Given the description of an element on the screen output the (x, y) to click on. 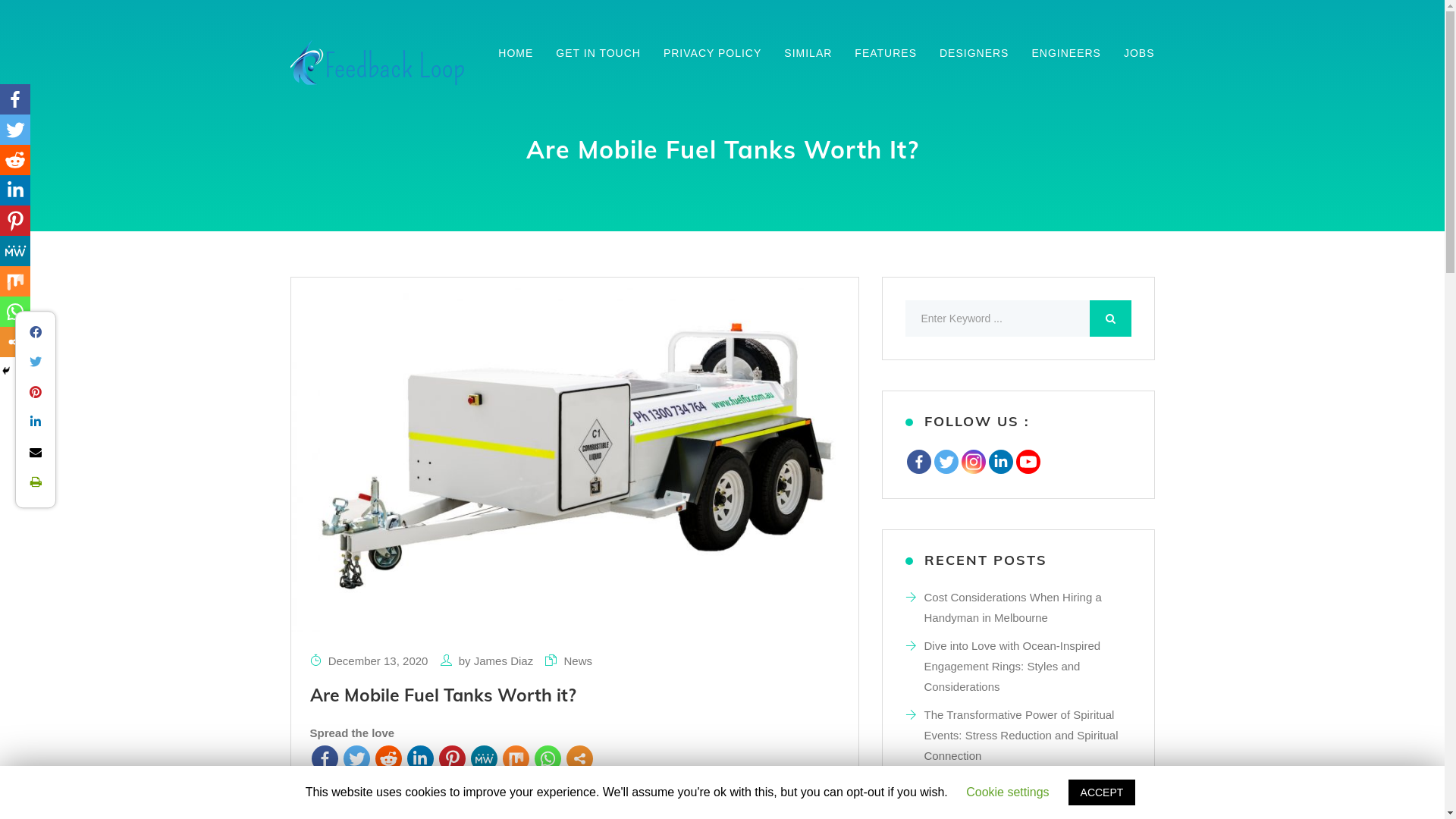
ACCEPT Element type: text (1101, 792)
Twitter Element type: hover (15, 129)
Twitter Element type: hover (946, 461)
Linkedin Element type: hover (419, 758)
Facebook Element type: hover (15, 99)
ENGINEERS Element type: text (1065, 52)
Tweet this ! Element type: hover (35, 361)
Linkedin Element type: hover (15, 190)
Pinterest Element type: hover (451, 758)
Mix Element type: hover (515, 758)
FEATURES Element type: text (885, 52)
Twitter Element type: hover (355, 758)
PRIVACY POLICY Element type: text (712, 52)
More Element type: hover (15, 341)
Mix Element type: hover (15, 281)
Cost Considerations When Hiring a Handyman in Melbourne Element type: text (1012, 607)
More Element type: hover (578, 758)
HOME Element type: text (515, 52)
Reddit Element type: hover (387, 758)
News Element type: text (577, 660)
Cookie settings Element type: text (1007, 791)
Whatsapp Element type: hover (546, 758)
Print this article  Element type: hover (35, 481)
Email this  Element type: hover (35, 451)
GET IN TOUCH Element type: text (598, 52)
Facebook Element type: hover (918, 461)
SIMILAR Element type: text (807, 52)
Whatsapp Element type: hover (15, 311)
DESIGNERS Element type: text (973, 52)
MeWe Element type: hover (15, 250)
The Art of Giving: Groomsmen Gifts in Australia Element type: text (1019, 793)
Submit this to Pinterest Element type: hover (35, 391)
James Diaz Element type: text (503, 660)
Share this on Facebook Element type: hover (35, 331)
Facebook Element type: hover (323, 758)
Add this to LinkedIn Element type: hover (35, 421)
JOBS Element type: text (1139, 52)
Instagram Element type: hover (973, 461)
Hide Element type: hover (6, 370)
MeWe Element type: hover (483, 758)
Pinterest Element type: hover (15, 220)
Youtube Element type: hover (1028, 461)
Linkedin Element type: hover (1000, 461)
Reddit Element type: hover (15, 159)
